Given the description of an element on the screen output the (x, y) to click on. 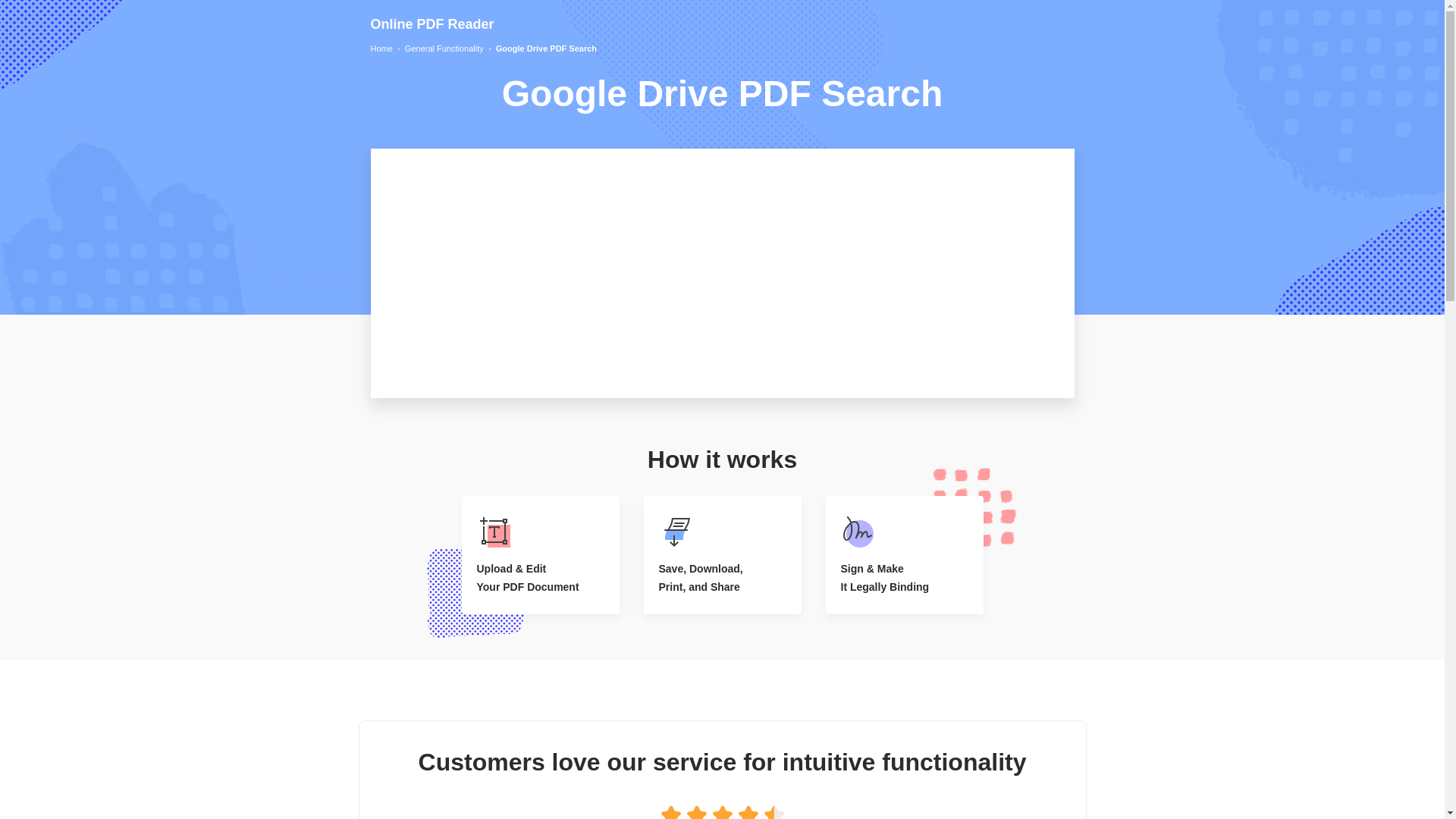
Online PDF Reader (431, 23)
Home (380, 48)
General Functionality (443, 48)
Google Drive PDF Search (546, 48)
